Given the description of an element on the screen output the (x, y) to click on. 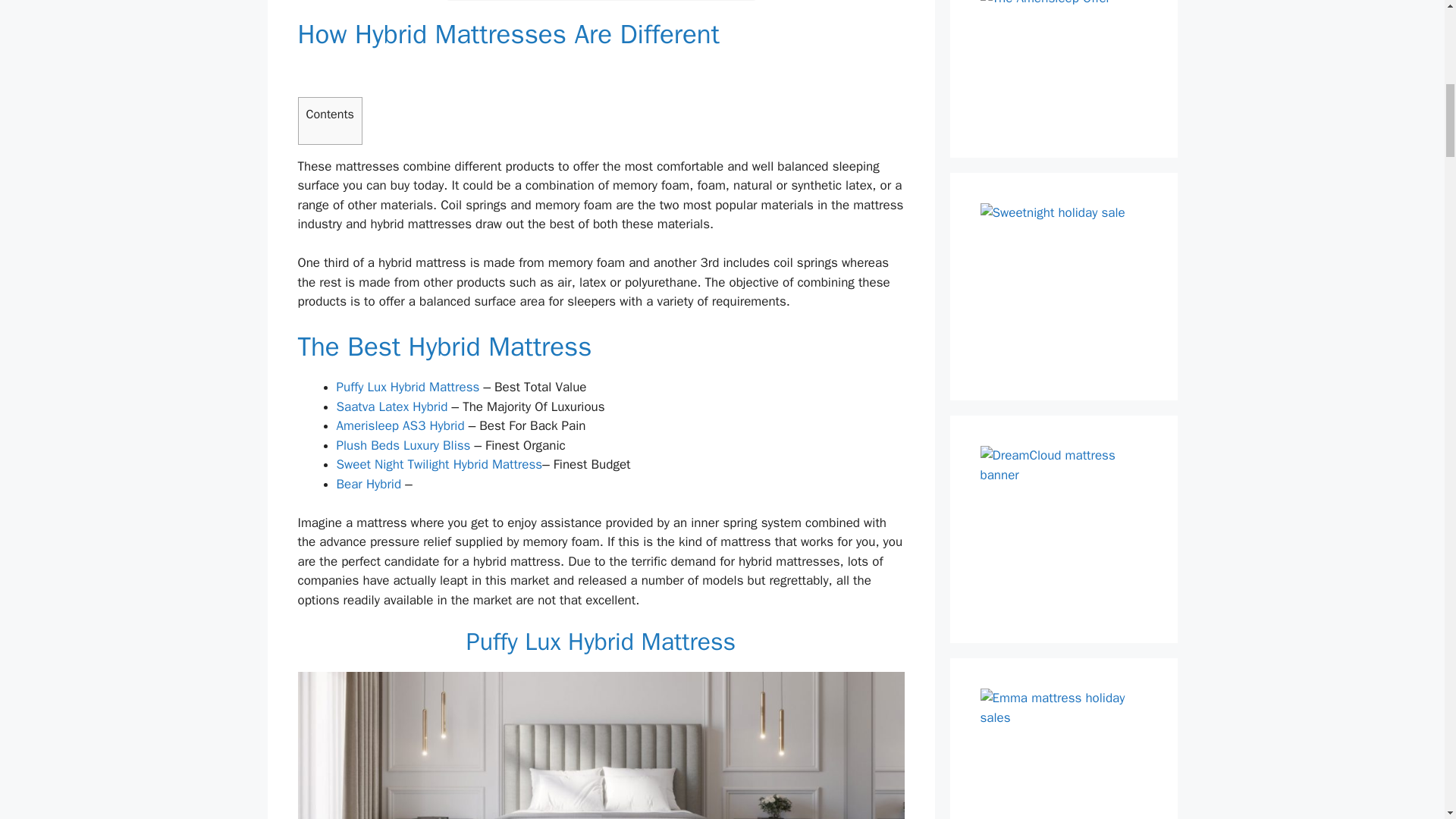
Sweet Night Twilight Hybrid Mattress (439, 464)
Bear Hybrid (368, 483)
Puffy Lux Hybrid Mattress (408, 386)
Saatva Latex Hybrid (392, 406)
Amerisleep AS3 Hybrid (400, 425)
Plush Beds Luxury Bliss (403, 445)
